Given the description of an element on the screen output the (x, y) to click on. 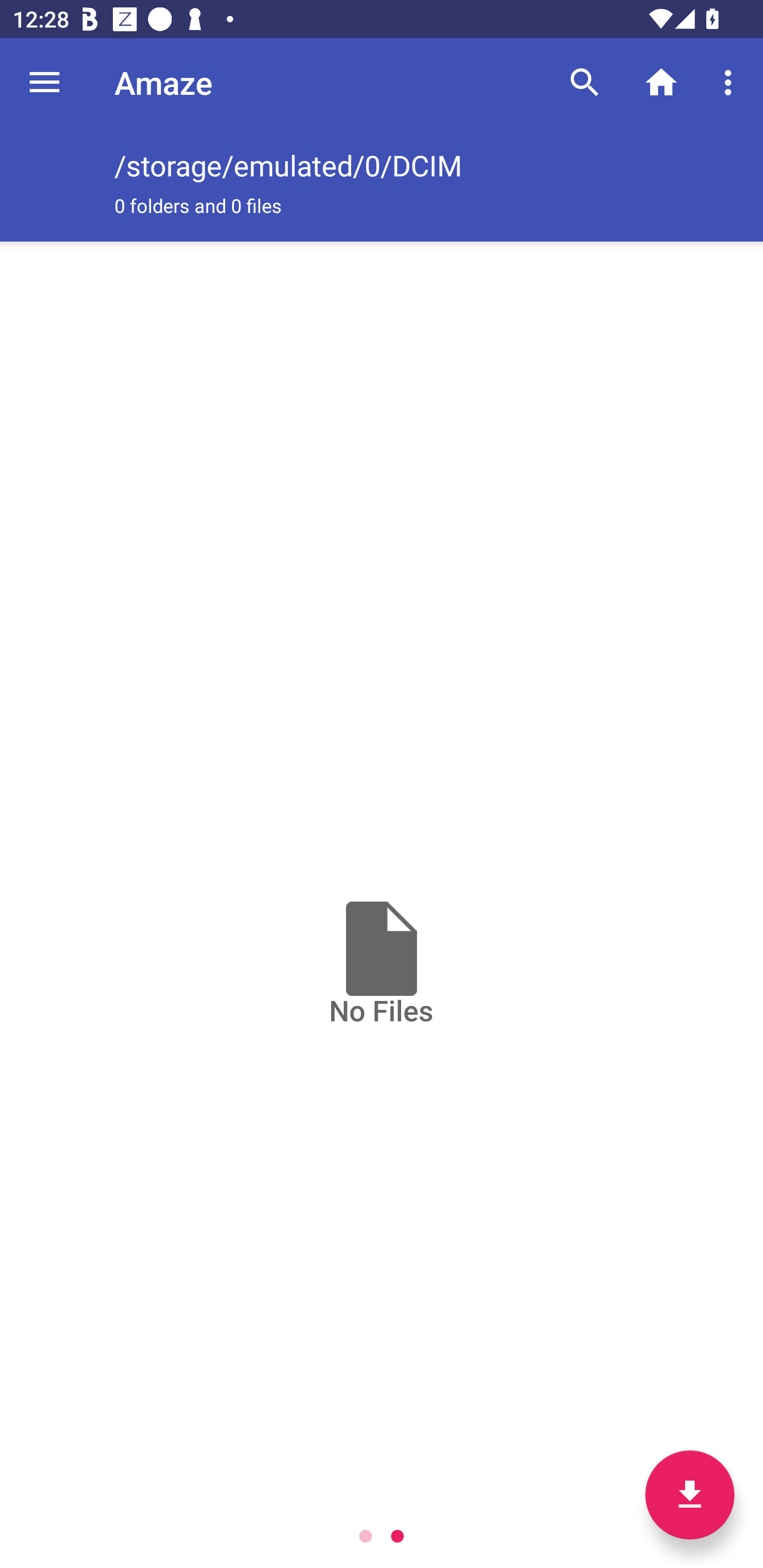
Navigate up (44, 82)
Search (585, 81)
Home (661, 81)
More options (731, 81)
